Given the description of an element on the screen output the (x, y) to click on. 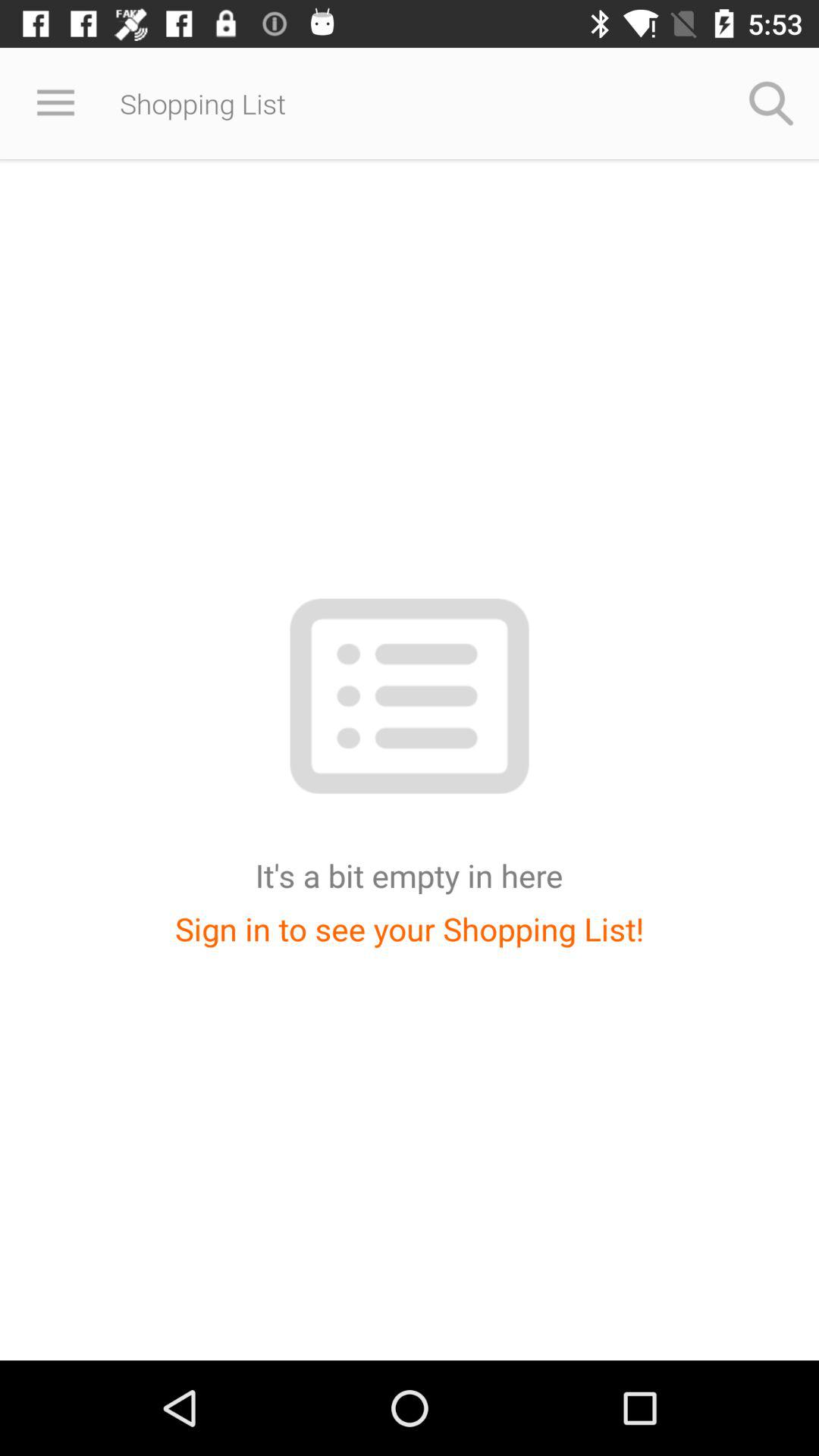
launch the icon next to the shopping list icon (771, 103)
